Given the description of an element on the screen output the (x, y) to click on. 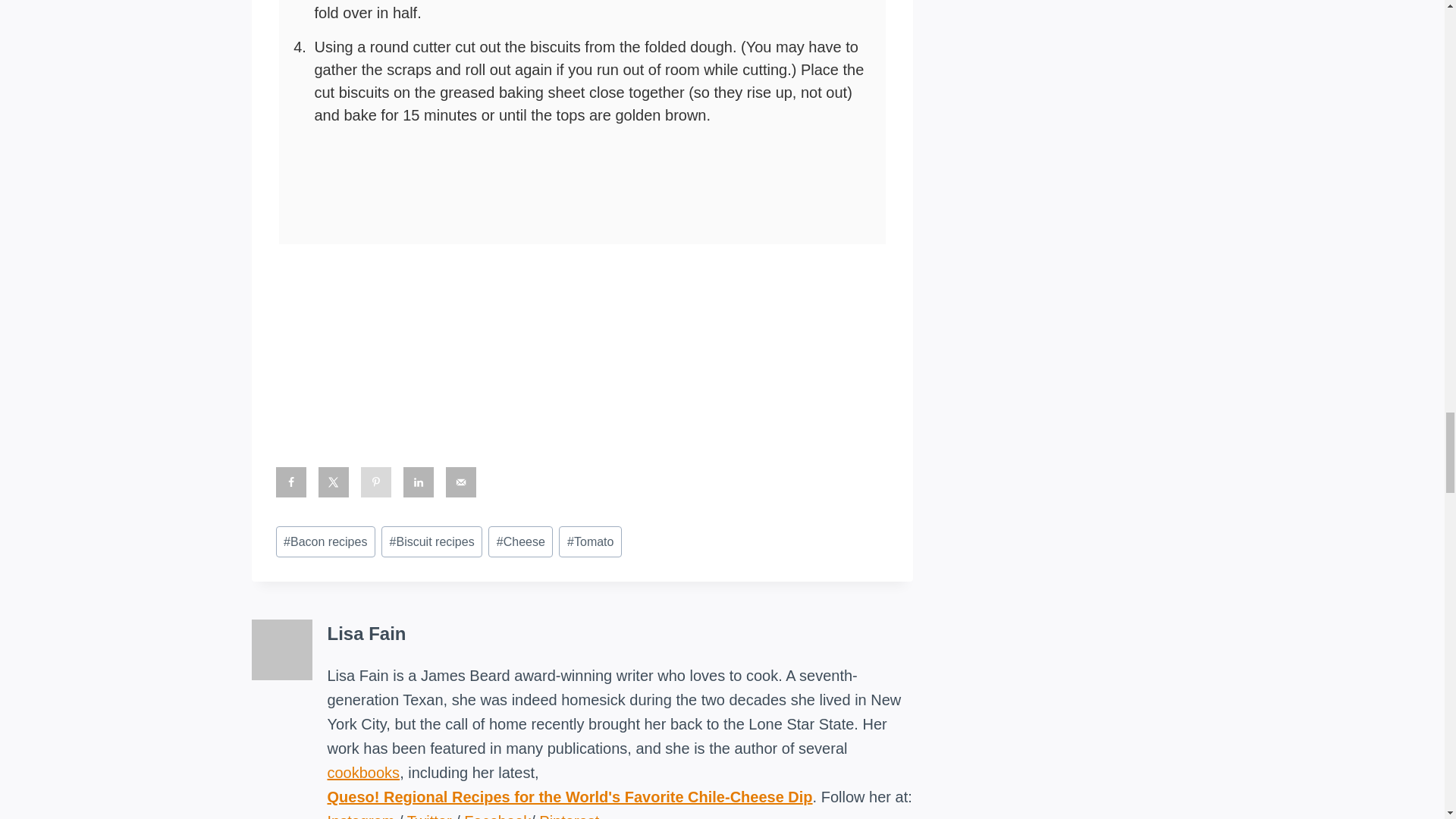
Share on X (333, 481)
Biscuit recipes (431, 541)
Share on LinkedIn (418, 481)
Bacon recipes (325, 541)
Tomato (590, 541)
Share on Facebook (290, 481)
Save to Pinterest (376, 481)
Send over email (460, 481)
Cheese (520, 541)
